Given the description of an element on the screen output the (x, y) to click on. 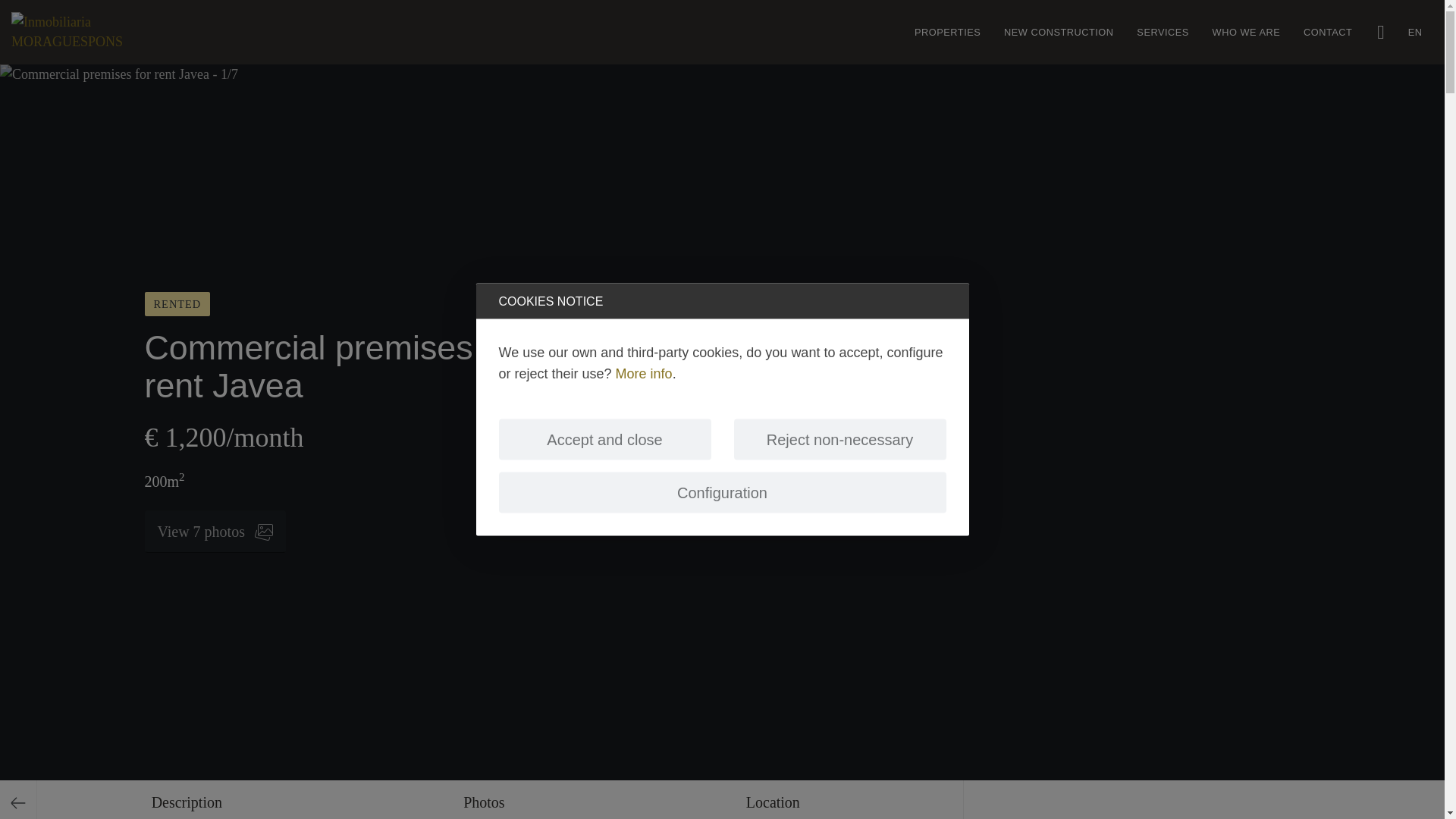
CONTACT (1327, 32)
Accept and close (605, 438)
Description (186, 799)
Photos (483, 799)
Location (772, 799)
SERVICES (1162, 32)
View 7 photos (214, 531)
NEW CONSTRUCTION (1058, 32)
WHO WE ARE (1245, 32)
Reject non-necessary (839, 438)
Features (186, 799)
Map (772, 799)
Configuration (722, 491)
PROPERTIES (947, 32)
